Given the description of an element on the screen output the (x, y) to click on. 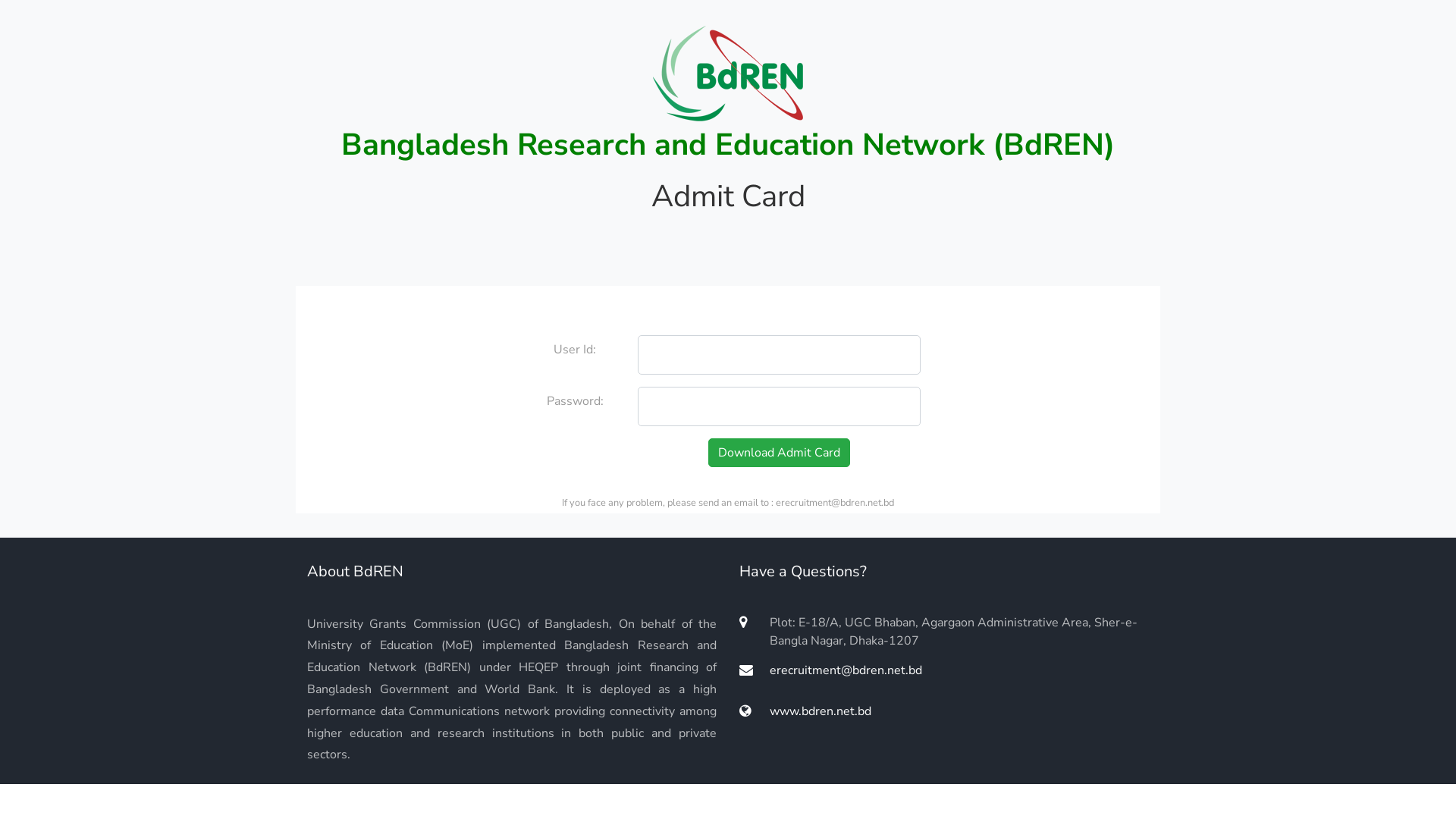
Bangladesh Research and Education Network (BdREN) Element type: text (727, 144)
Download Admit Card Element type: text (779, 452)
www.bdren.net.bd Element type: text (805, 711)
erecruitment@bdren.net.bd Element type: text (830, 670)
